Given the description of an element on the screen output the (x, y) to click on. 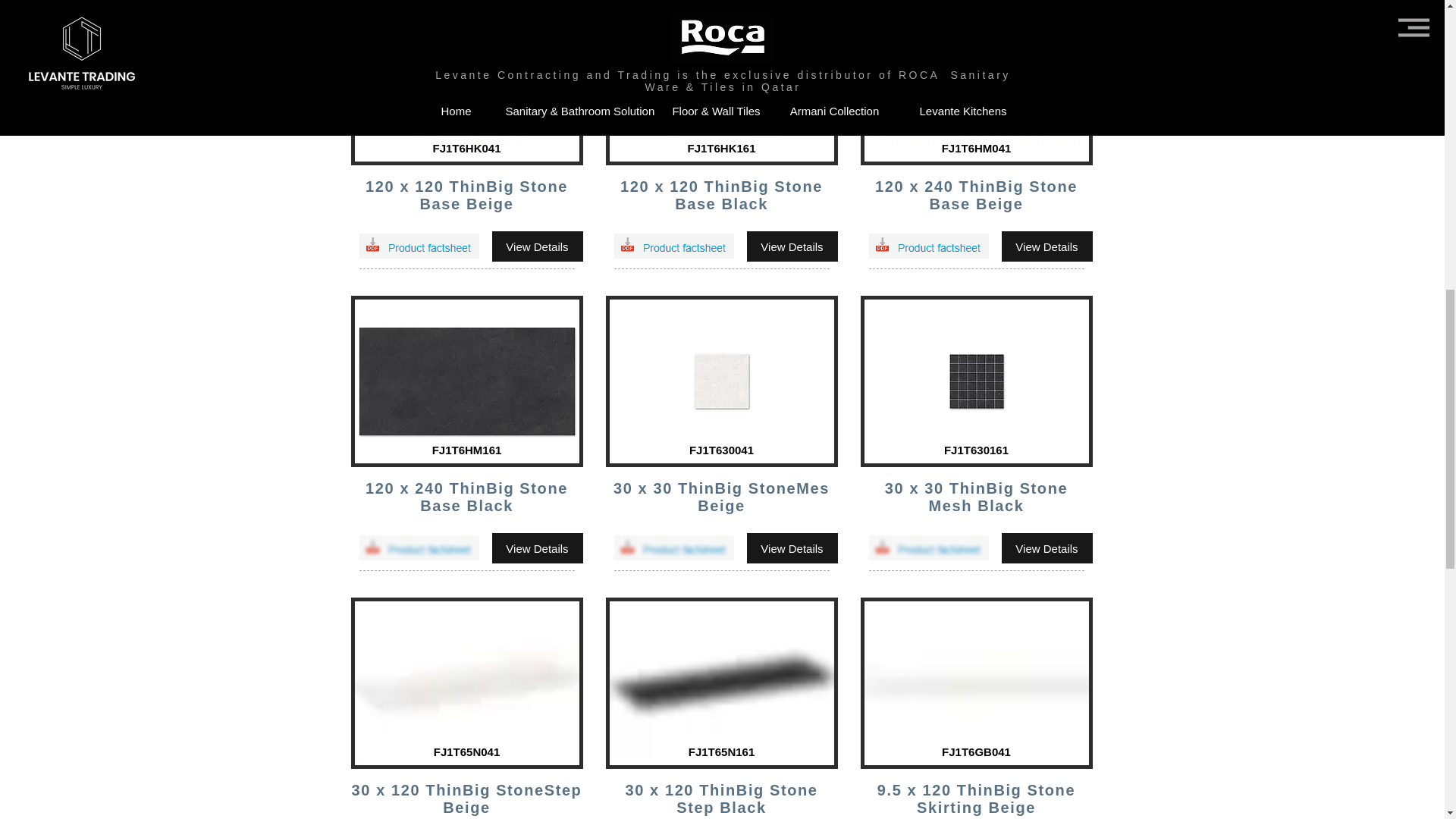
View Details (537, 245)
View Details (791, 548)
View Details (1046, 548)
View Details (791, 245)
View Details (1046, 245)
View Details (537, 548)
